Given the description of an element on the screen output the (x, y) to click on. 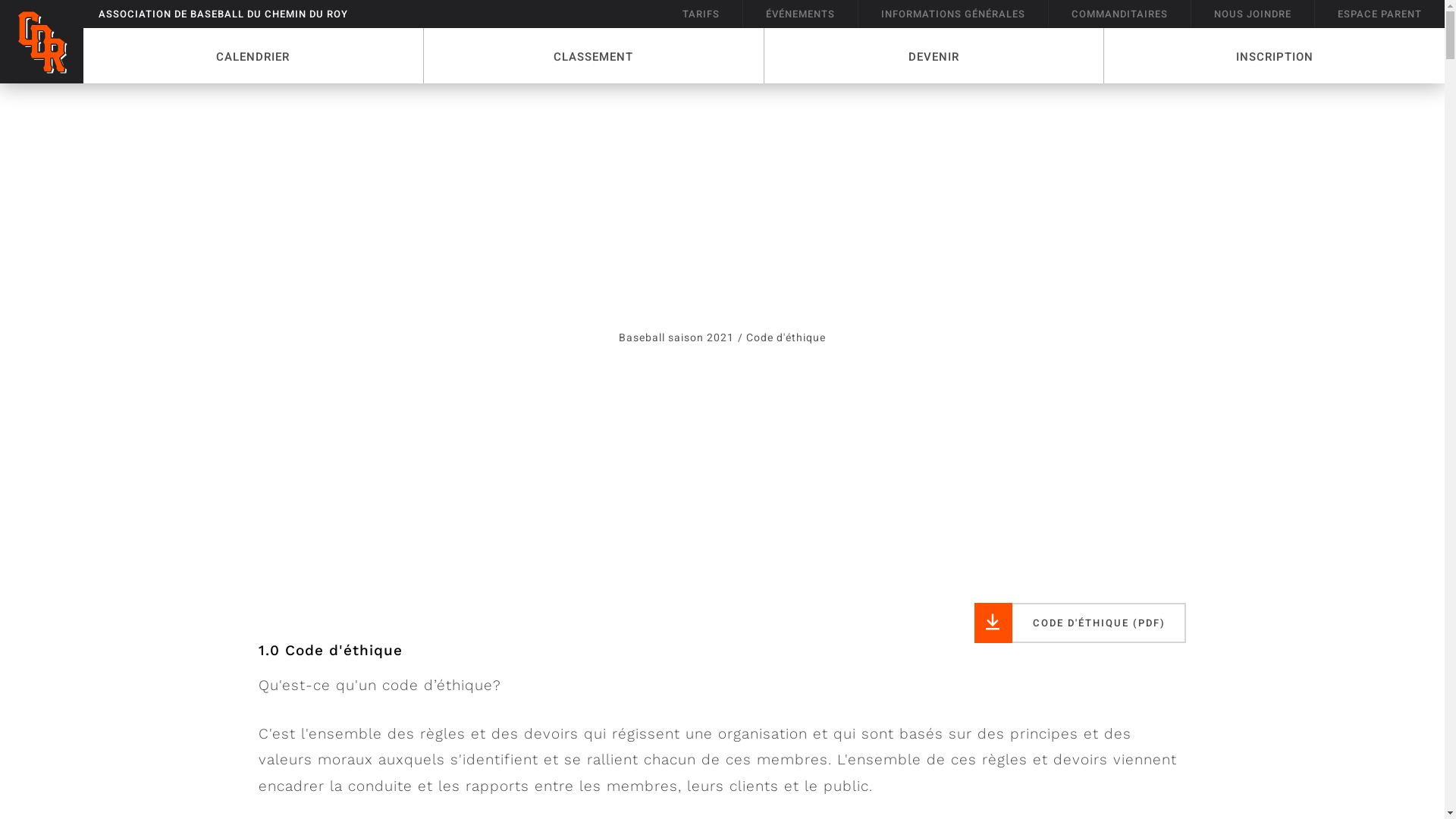
ASSOCIATION DE BASEBALL DU CHEMIN DU ROY Element type: text (223, 14)
CALENDRIER Element type: text (253, 55)
INSCRIPTION Element type: text (1274, 55)
COMMANDITAIRES Element type: text (1119, 14)
NOUS JOINDRE Element type: text (1252, 14)
Baseball saison 2021 Element type: text (676, 337)
DEVENIR Element type: text (934, 55)
TARIFS Element type: text (701, 14)
CLASSEMENT Element type: text (593, 55)
ESPACE PARENT Element type: text (1379, 14)
